Given the description of an element on the screen output the (x, y) to click on. 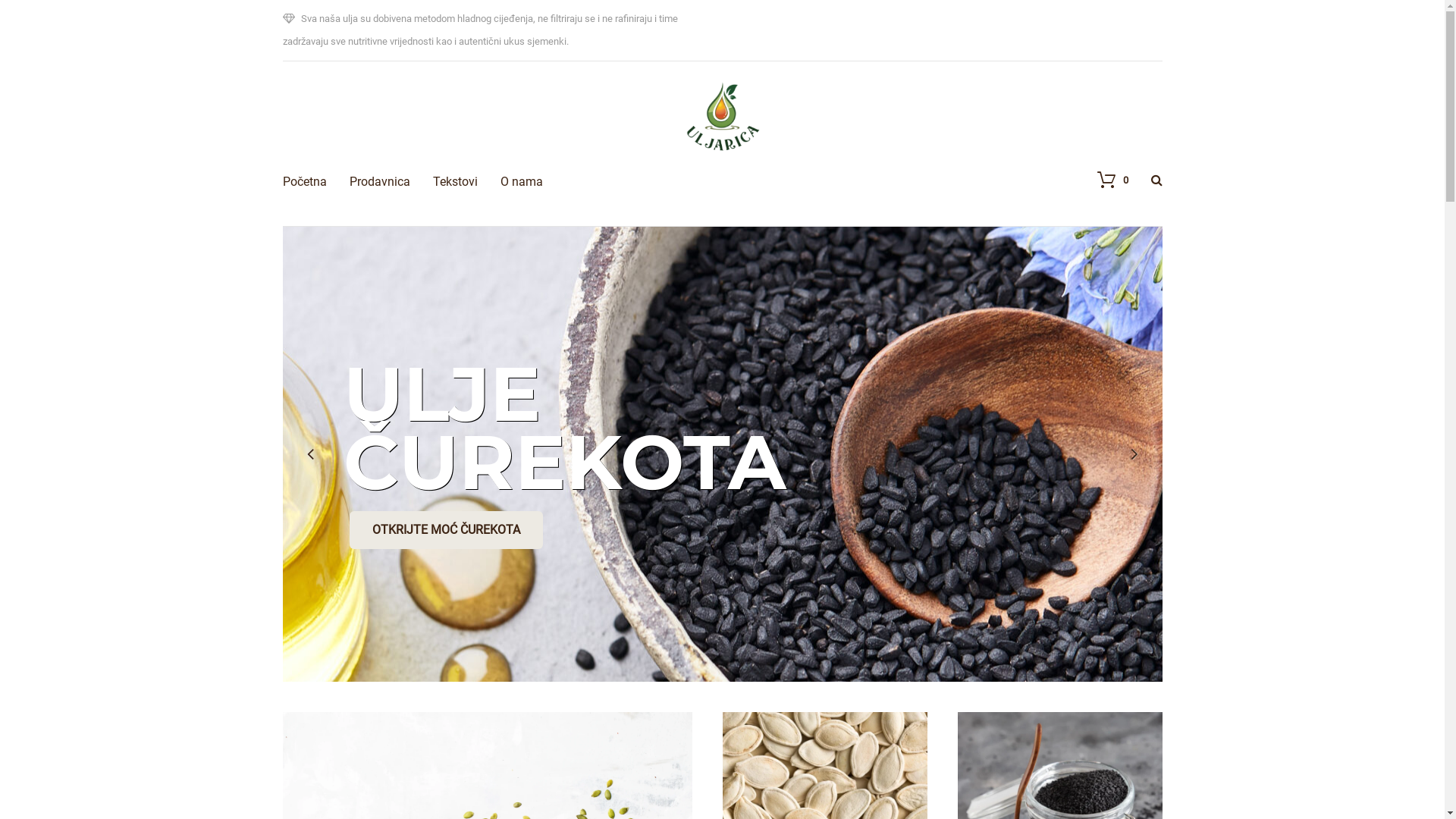
Prodavnica Element type: text (378, 158)
0 Element type: text (1104, 156)
Tekstovi Element type: text (454, 158)
O nama Element type: text (521, 158)
Prev Element type: text (310, 431)
Next Element type: text (1133, 431)
